Given the description of an element on the screen output the (x, y) to click on. 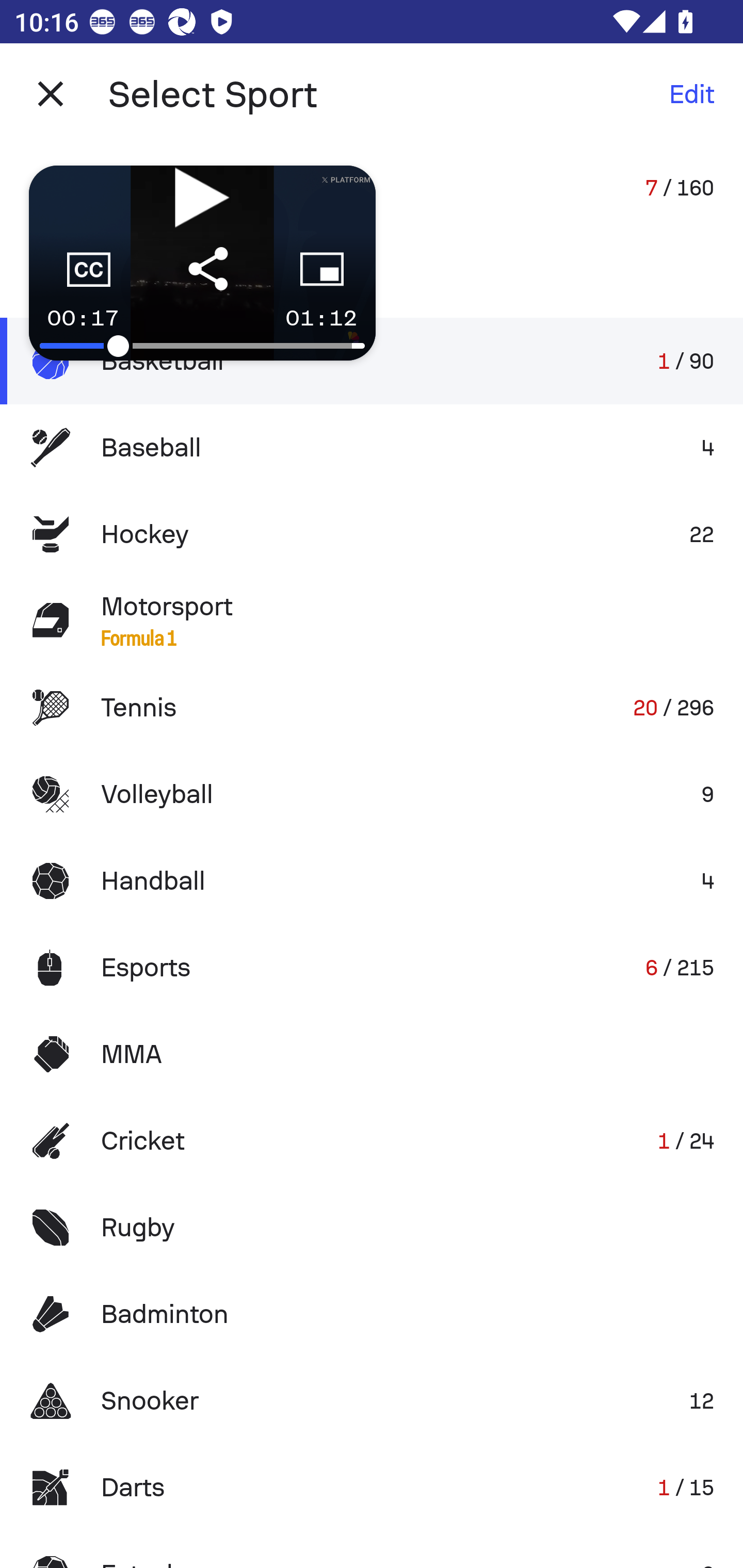
Edit (691, 93)
Baseball 4 (371, 447)
Hockey 22 (371, 533)
Motorsport Formula 1 (371, 620)
Tennis 20 / 296 (371, 707)
Volleyball 9 (371, 794)
Handball 4 (371, 880)
Esports 6 / 215 (371, 967)
MMA (371, 1054)
Cricket 1 / 24 (371, 1140)
Rugby (371, 1227)
Badminton (371, 1314)
Snooker 12 (371, 1400)
Darts 1 / 15 (371, 1487)
